Given the description of an element on the screen output the (x, y) to click on. 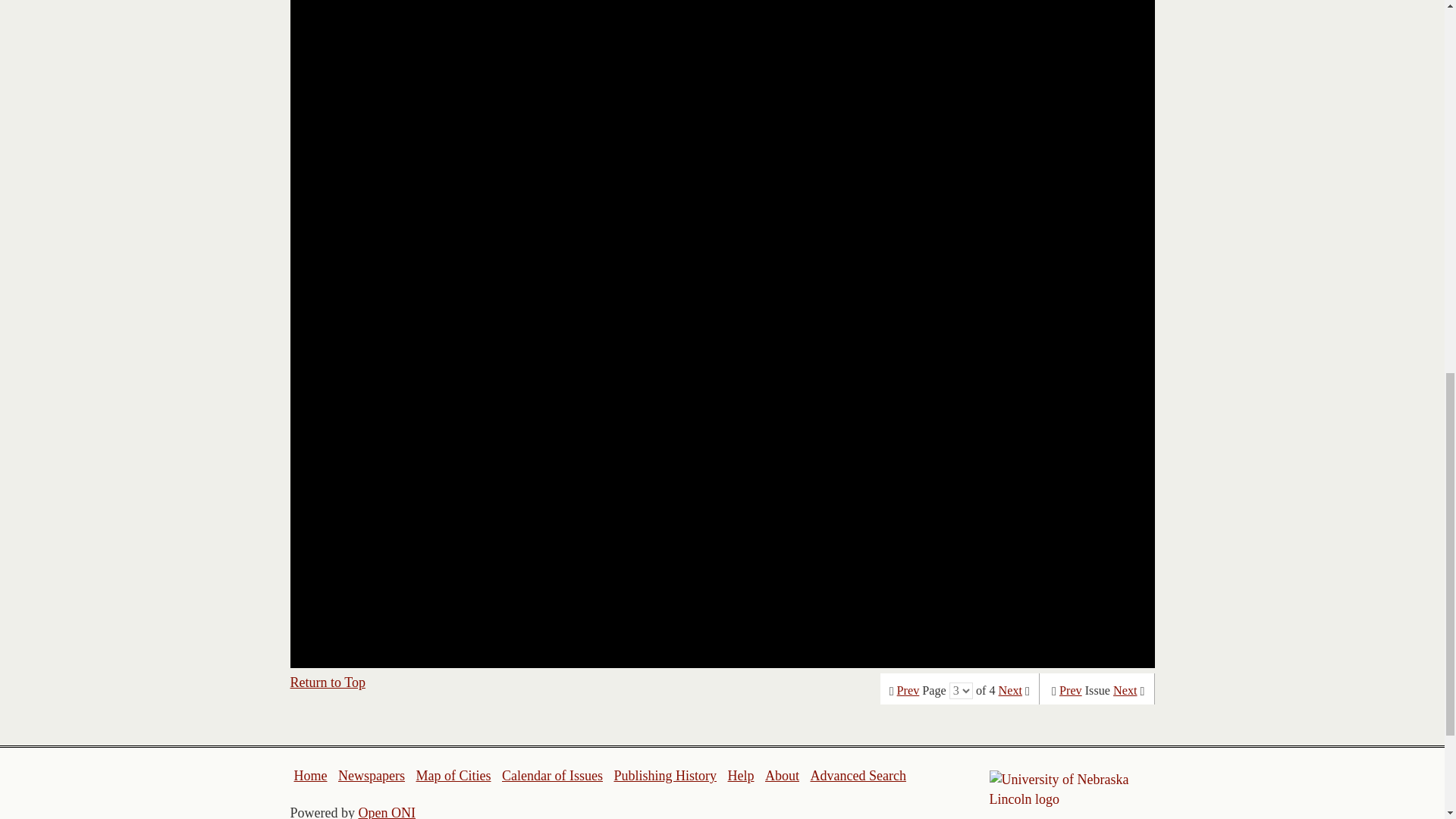
Prev (908, 690)
Map of Cities (452, 775)
About (782, 775)
Newspapers (370, 775)
Next (1125, 690)
Prev (1070, 690)
Publishing History (664, 775)
Next (1010, 690)
Help (740, 775)
Return to Top (327, 682)
